Given the description of an element on the screen output the (x, y) to click on. 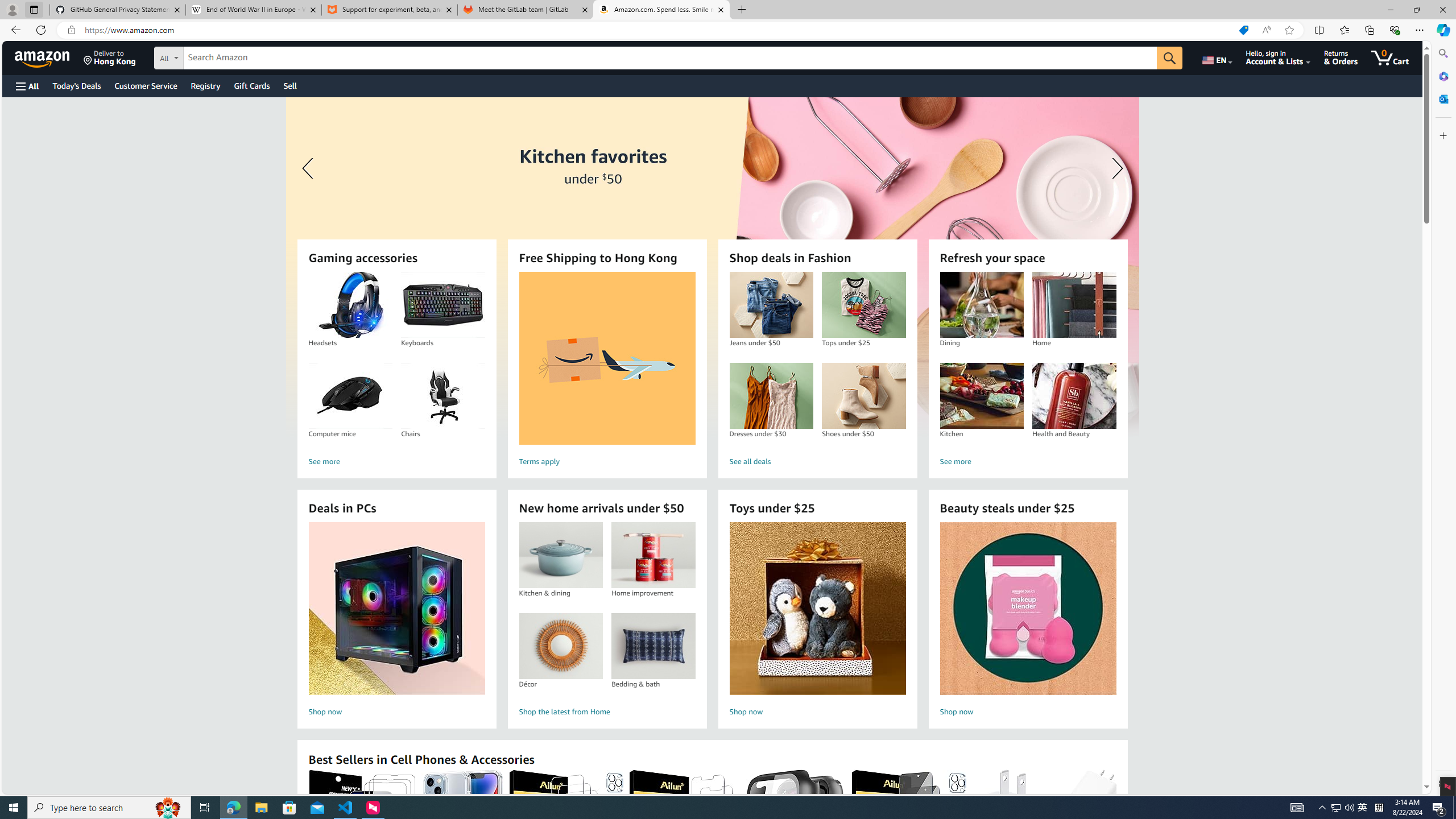
See all deals (817, 461)
Shop Kitchen favorites (711, 267)
Jeans under $50 (770, 304)
Meet the GitLab team | GitLab (525, 9)
Close Outlook pane (1442, 98)
Free Shipping to Hong Kong Terms apply (606, 370)
Headsets (350, 304)
Read aloud this page (Ctrl+Shift+U) (1266, 29)
GitHub General Privacy Statement - GitHub Docs (117, 9)
Amazon.com. Spend less. Smile more. (660, 9)
